Given the description of an element on the screen output the (x, y) to click on. 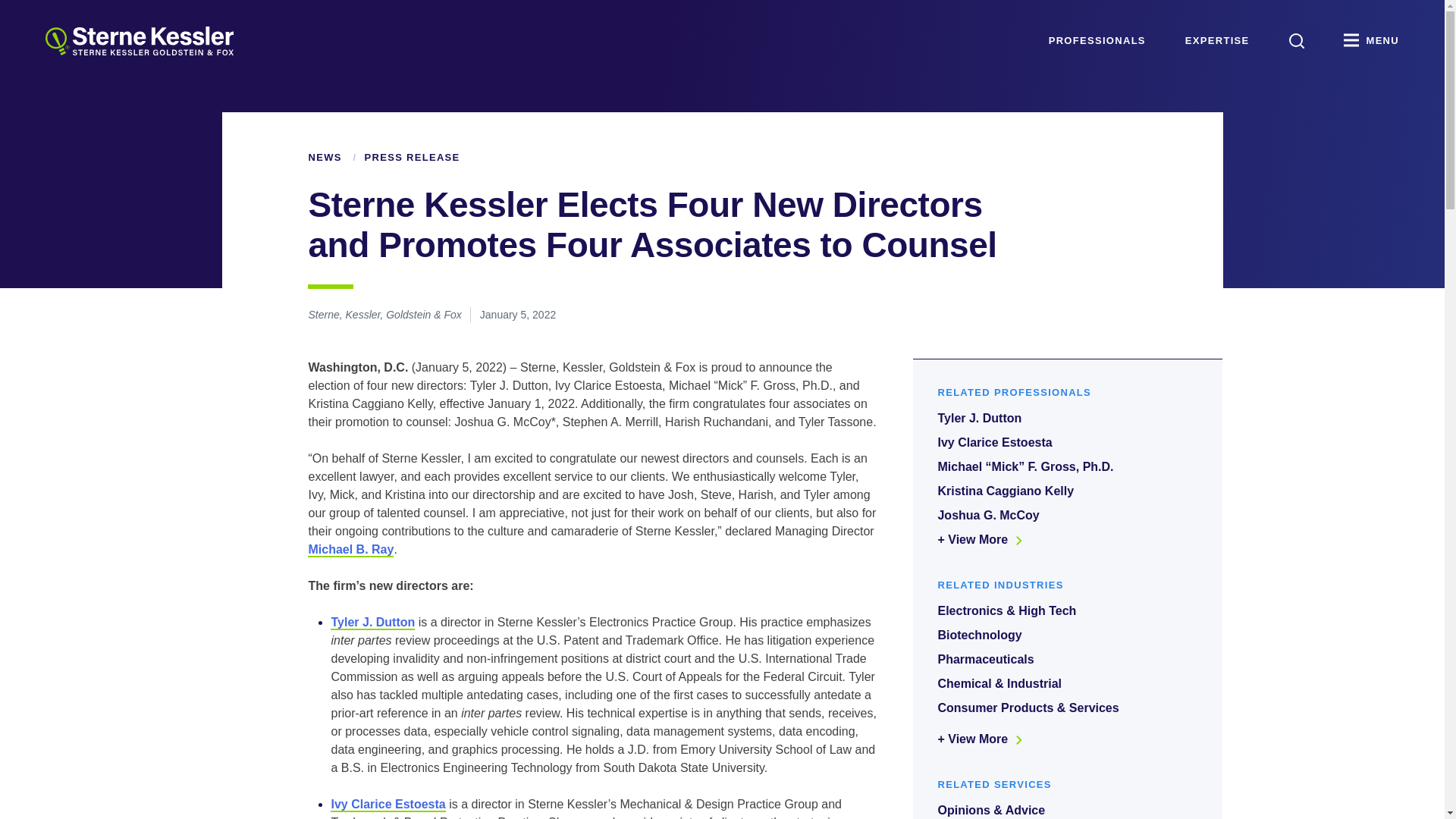
MENU (1371, 40)
Sterne Kessler (138, 40)
PROFESSIONALS (1096, 40)
